Given the description of an element on the screen output the (x, y) to click on. 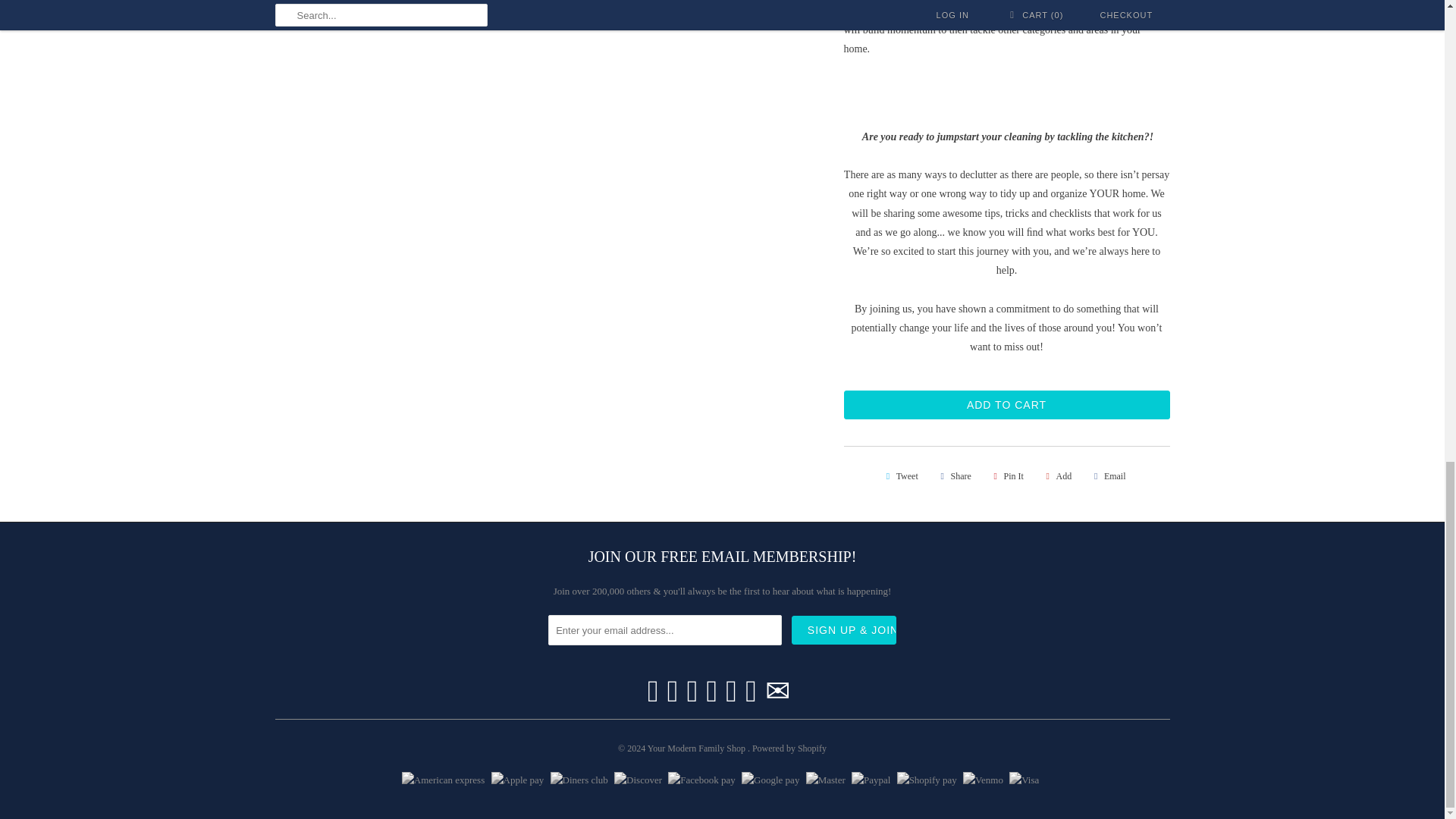
Share this on Facebook (953, 476)
Share (953, 476)
ADD TO CART (1006, 404)
Share this on Pinterest (1005, 476)
Email this to a friend (1107, 476)
Share this on Twitter (898, 476)
Email (1107, 476)
Pin It (1005, 476)
Add (1055, 476)
Tweet (898, 476)
